Given the description of an element on the screen output the (x, y) to click on. 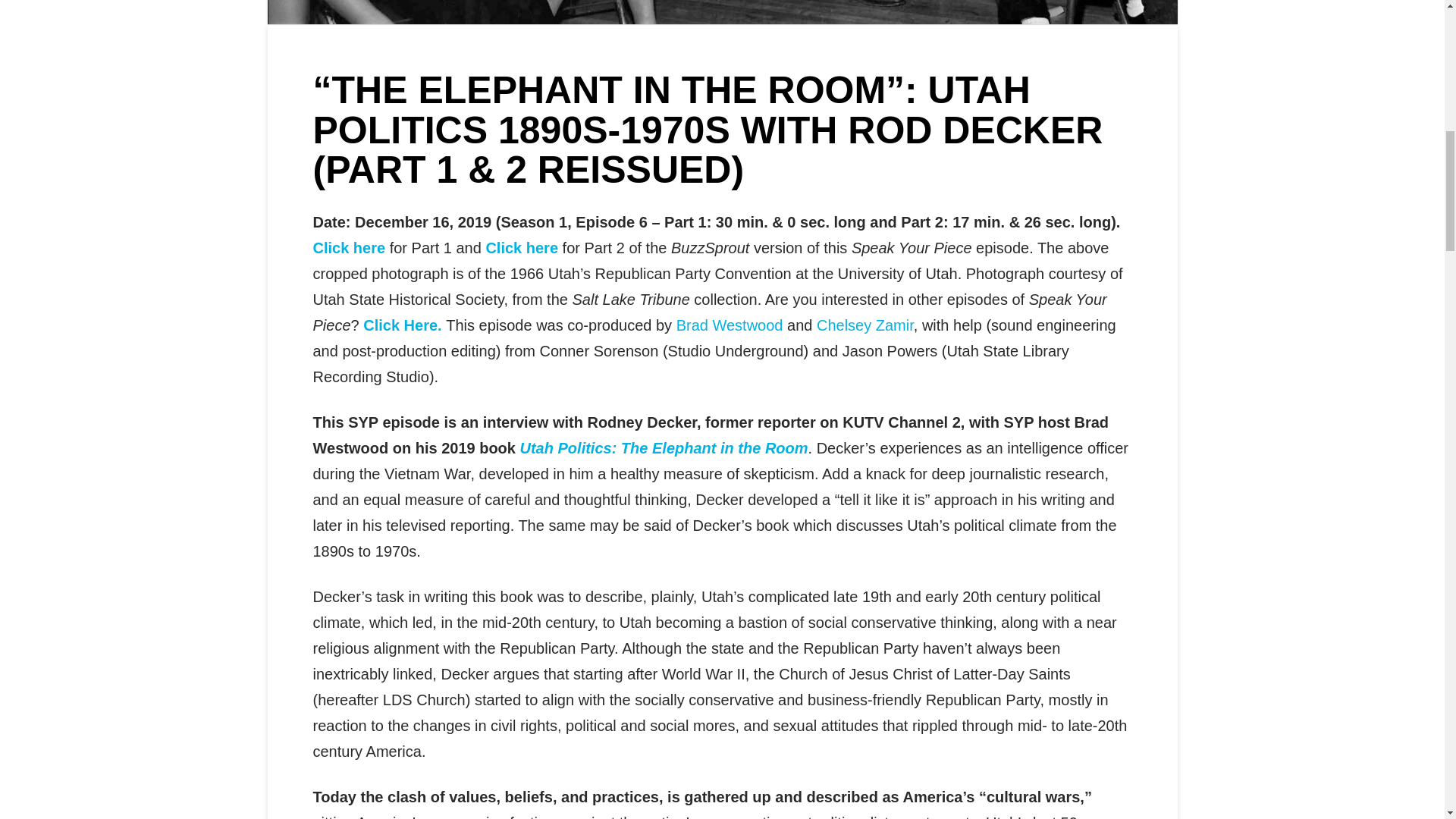
Chelsey Zamir (865, 324)
Click here (349, 247)
Utah Politics: The Elephant in the Room (663, 447)
Brad Westwood (730, 324)
Click here (520, 247)
 Click Here. (400, 324)
